Given the description of an element on the screen output the (x, y) to click on. 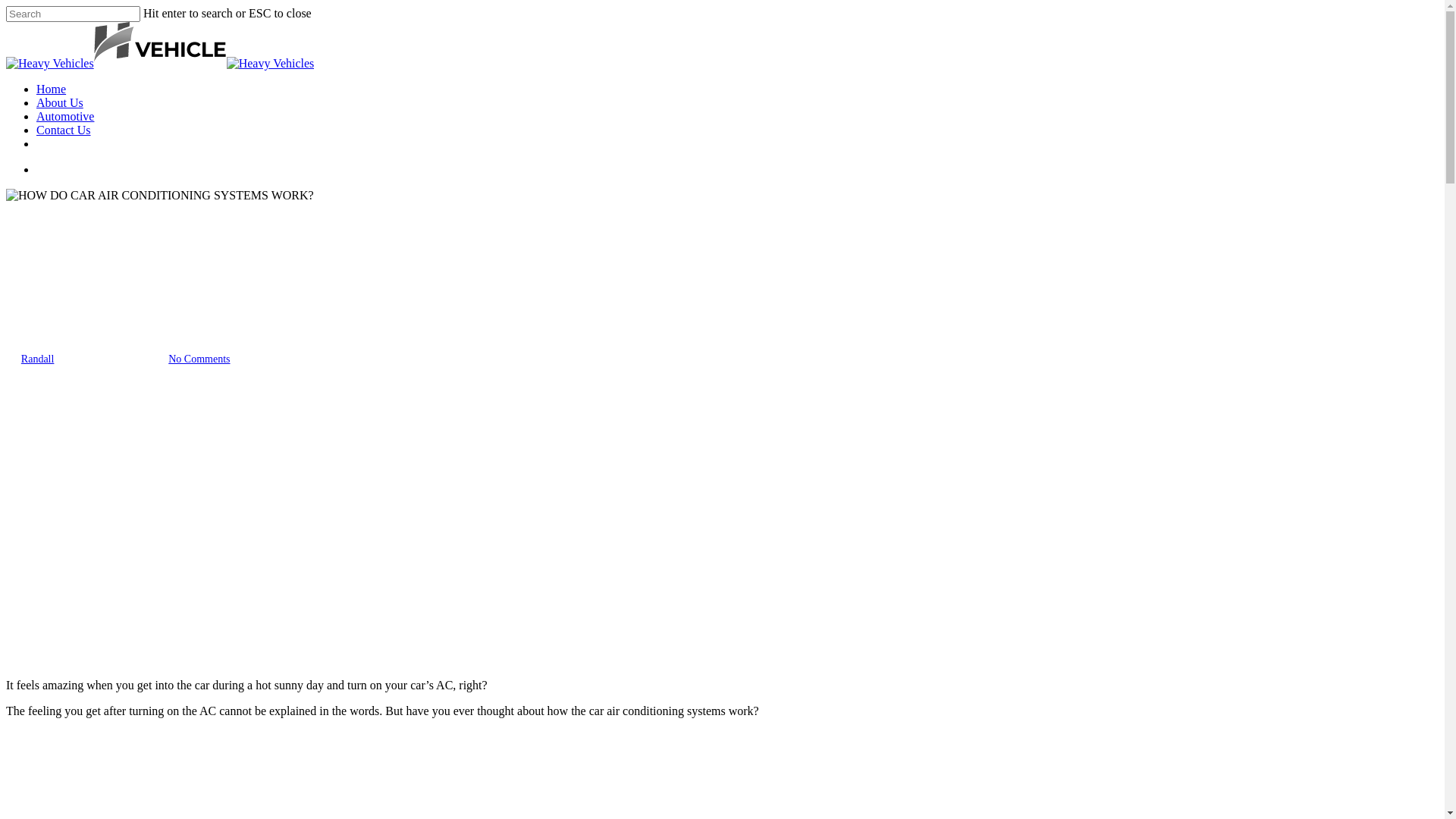
Home Element type: text (50, 88)
No Comments Element type: text (198, 358)
Randall Element type: text (37, 358)
Automotive Element type: text (34, 285)
Contact Us Element type: text (63, 129)
About Us Element type: text (59, 102)
Automotive Element type: text (65, 115)
